Given the description of an element on the screen output the (x, y) to click on. 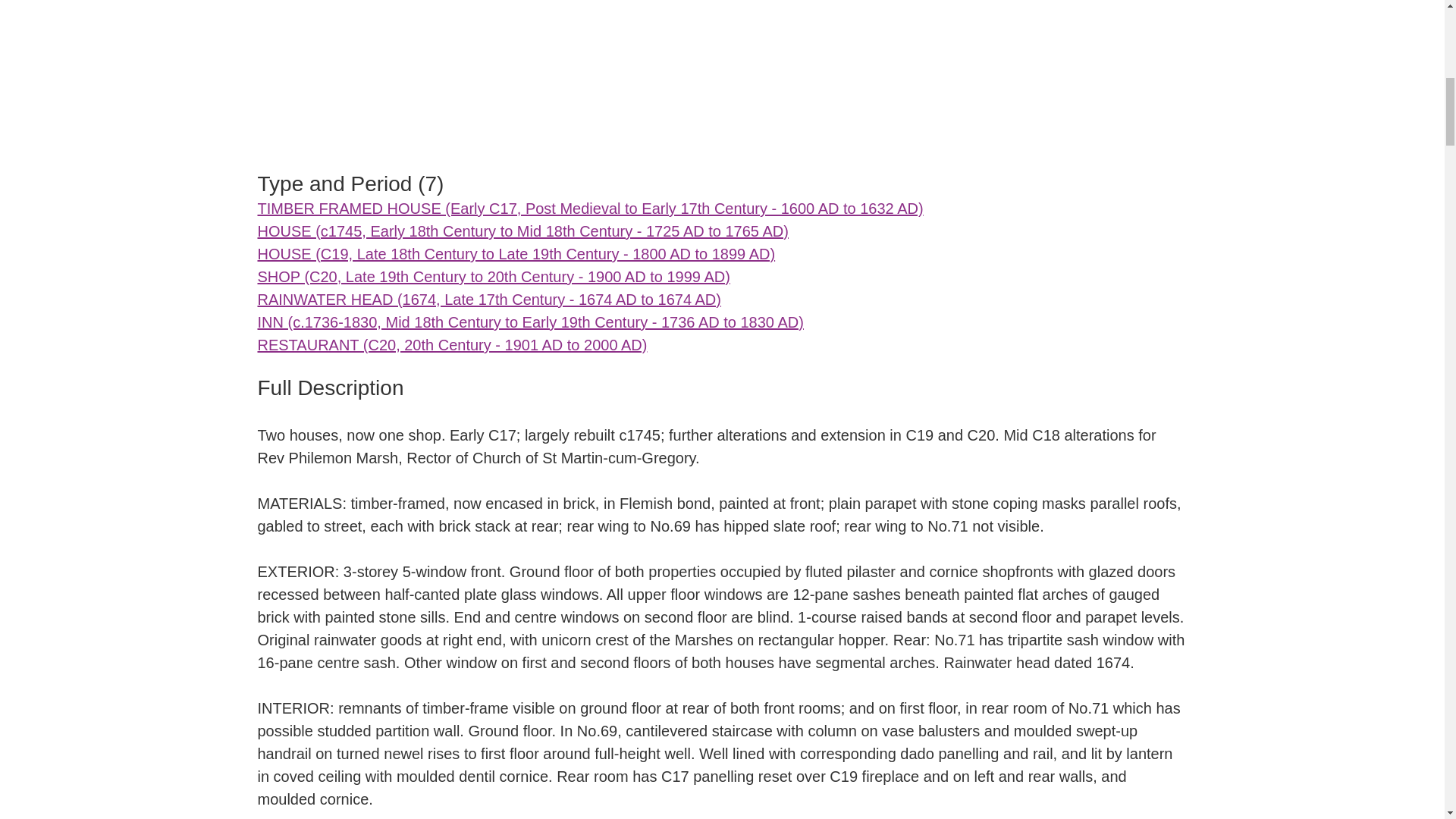
view the term definition for TIMBER FRAMED HOUSE (590, 208)
view the term definition for INN (530, 321)
view the term definition for RAINWATER HEAD (488, 299)
view the term definition for SHOP (493, 276)
view the term definition for HOUSE (516, 253)
view the term definition for HOUSE (523, 230)
view the term definition for RESTAURANT (452, 344)
